Given the description of an element on the screen output the (x, y) to click on. 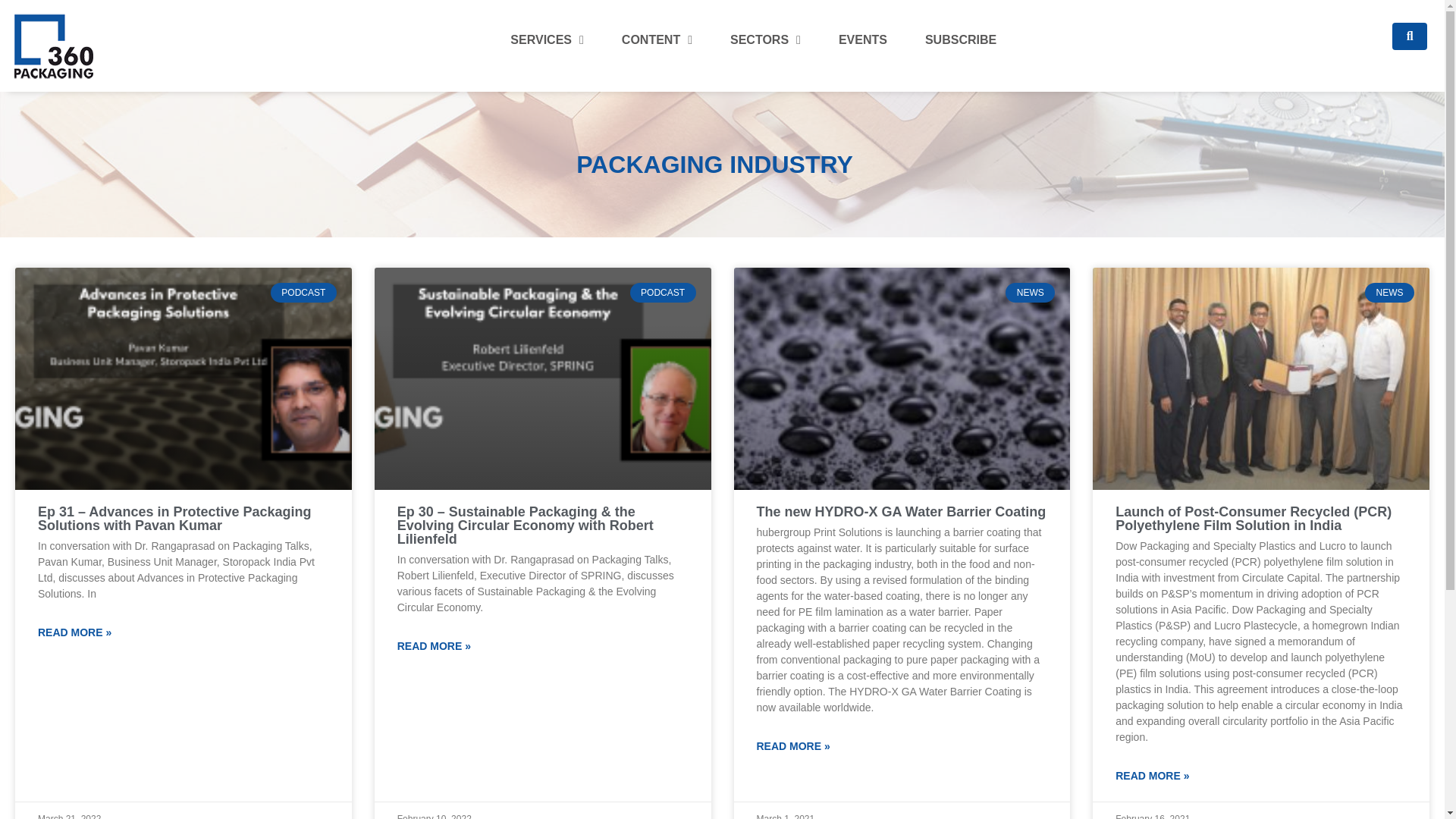
SECTORS (764, 39)
SERVICES (546, 39)
EVENTS (863, 39)
SUBSCRIBE (960, 39)
CONTENT (657, 39)
